Given the description of an element on the screen output the (x, y) to click on. 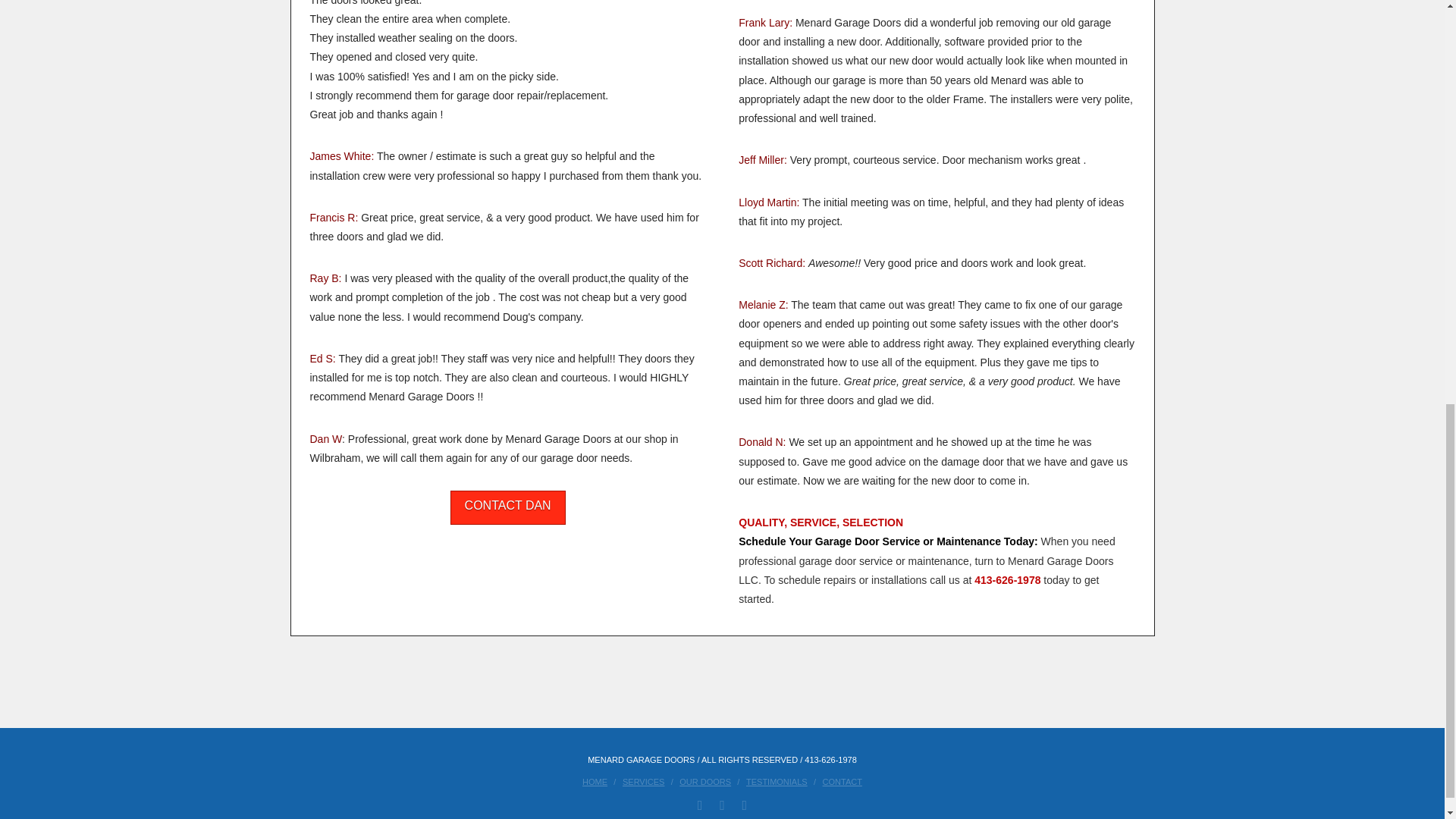
CONTACT (841, 781)
TESTIMONIALS (776, 781)
SERVICES (643, 781)
HOME (594, 781)
OUR DOORS (704, 781)
CONTACT DAN (507, 507)
